Given the description of an element on the screen output the (x, y) to click on. 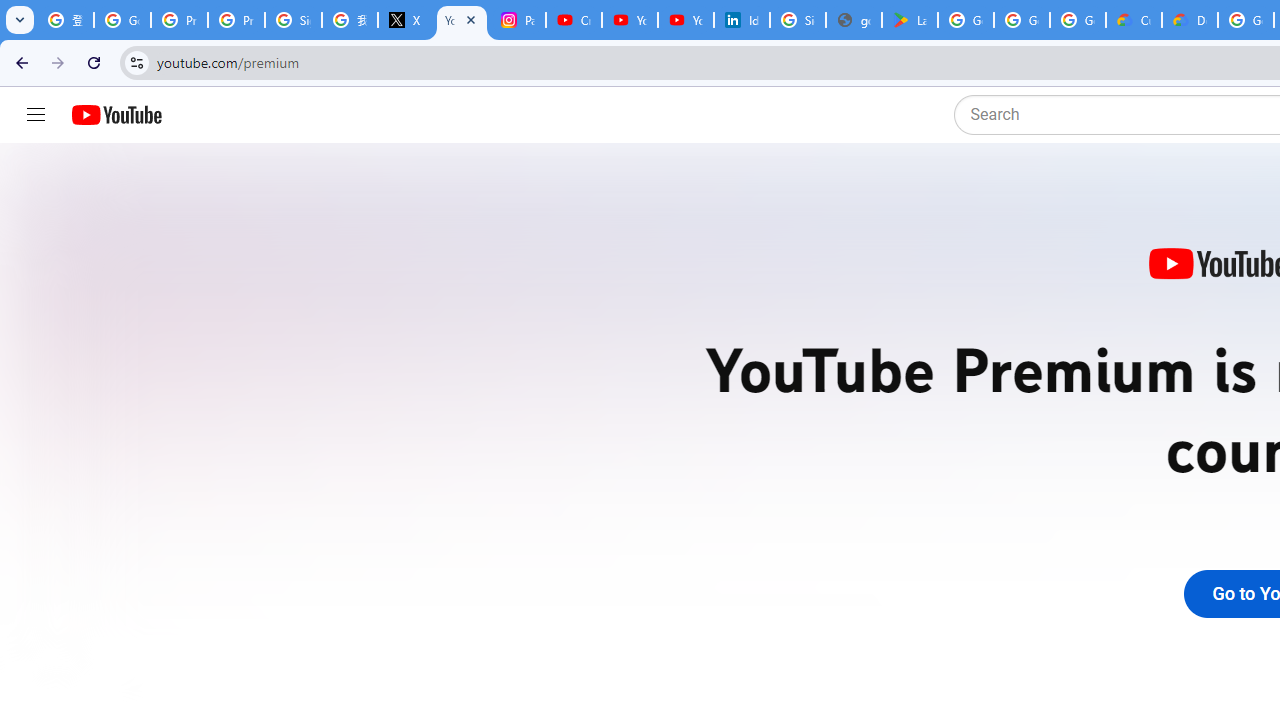
YouTube Culture & Trends - YouTube Top 10, 2021 (685, 20)
Customer Care | Google Cloud (1133, 20)
Last Shelter: Survival - Apps on Google Play (909, 20)
Privacy Help Center - Policies Help (235, 20)
